Given the description of an element on the screen output the (x, y) to click on. 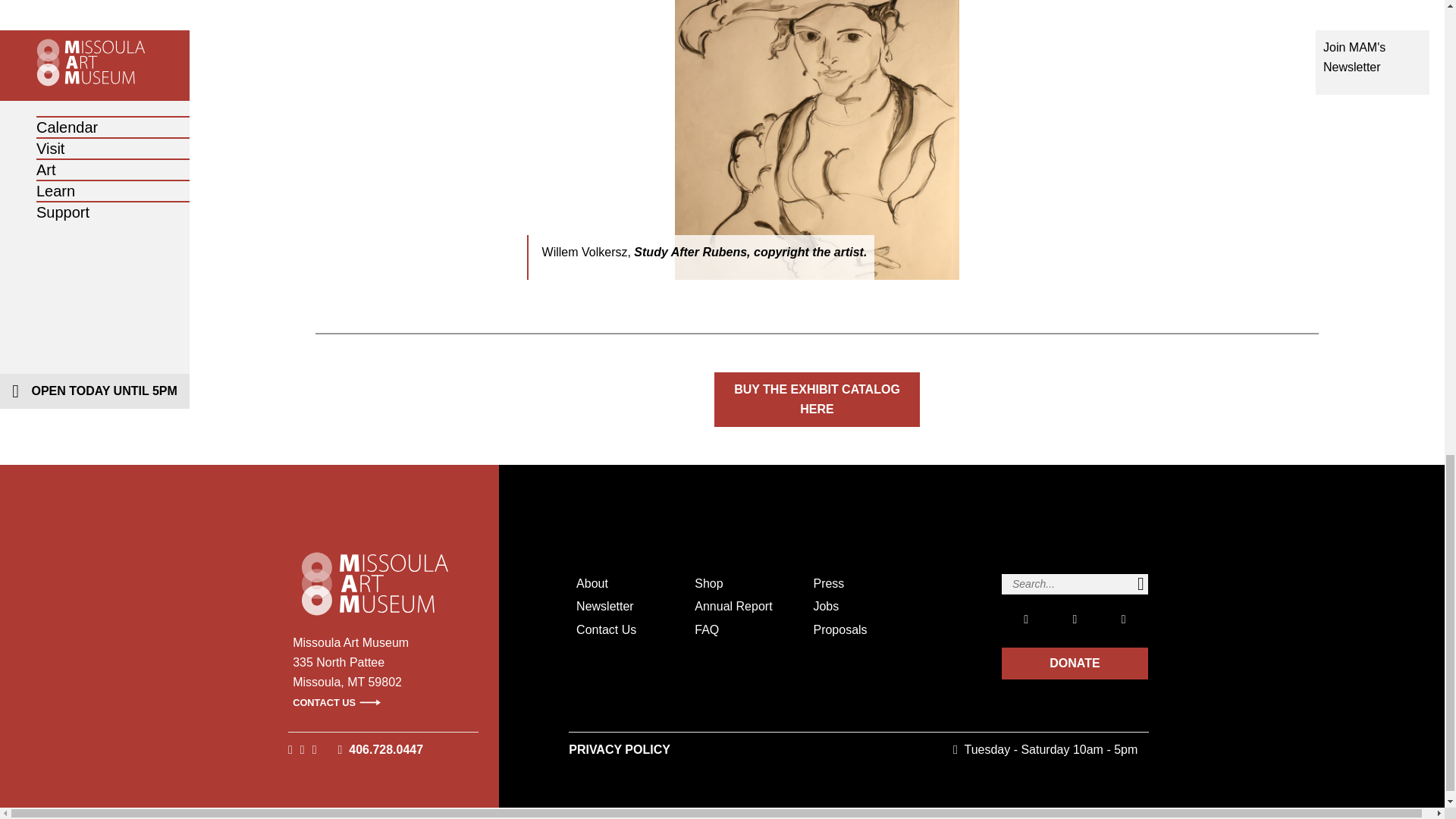
BUY THE EXHIBIT CATALOG HERE (817, 399)
